Given the description of an element on the screen output the (x, y) to click on. 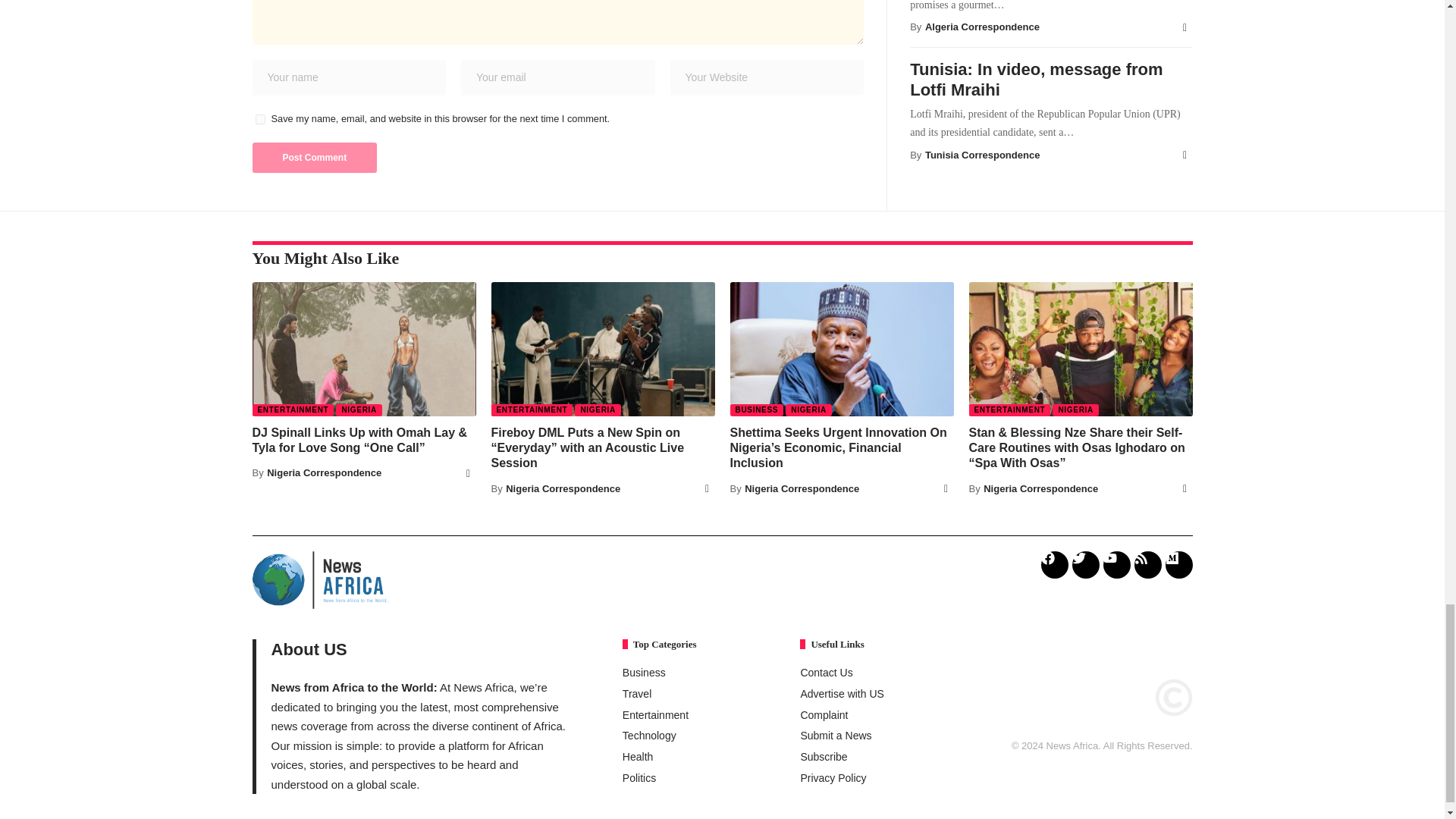
Post Comment (314, 157)
yes (259, 119)
